Given the description of an element on the screen output the (x, y) to click on. 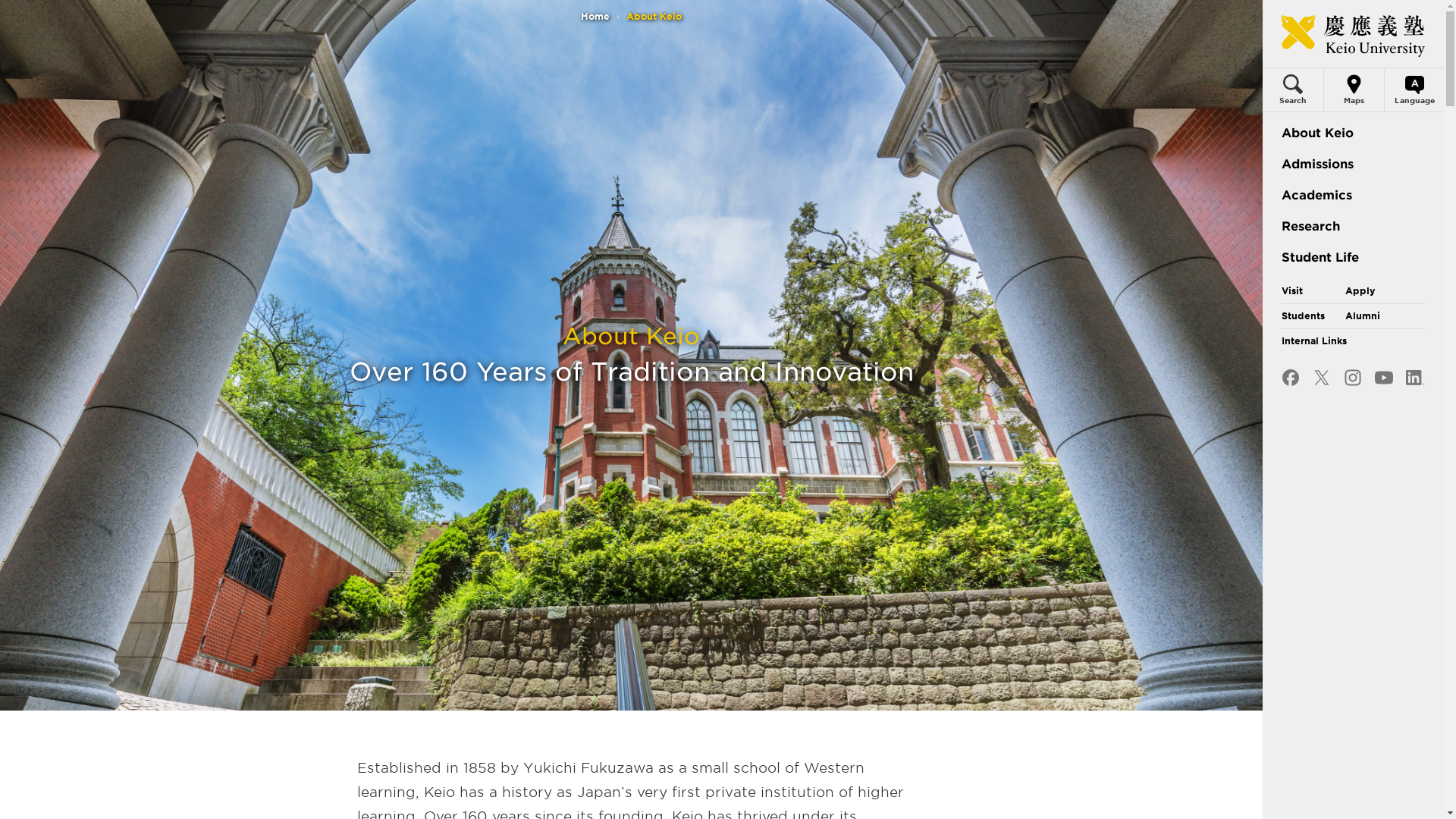
Home (595, 16)
